Given the description of an element on the screen output the (x, y) to click on. 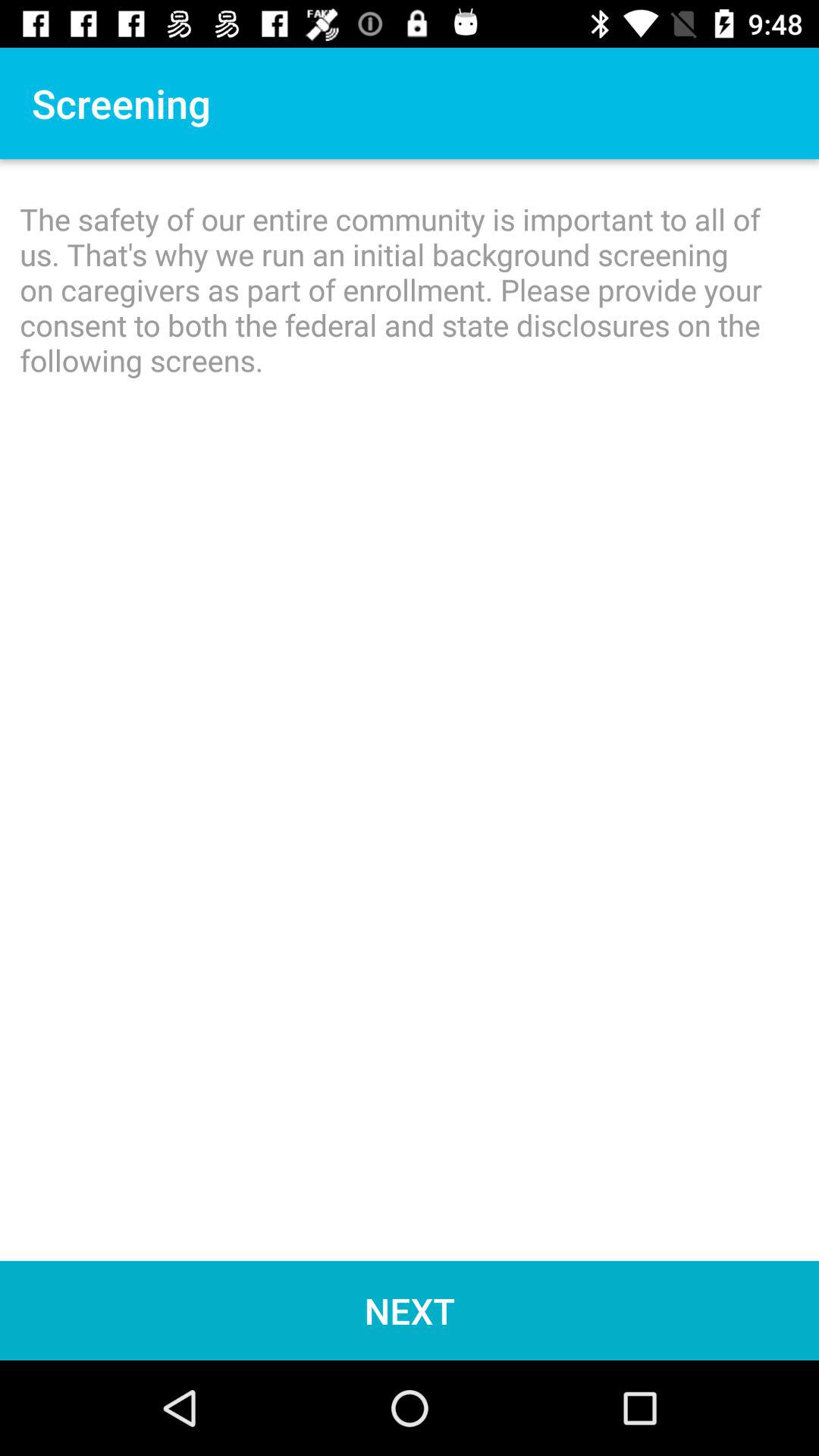
jump to next item (409, 1310)
